Given the description of an element on the screen output the (x, y) to click on. 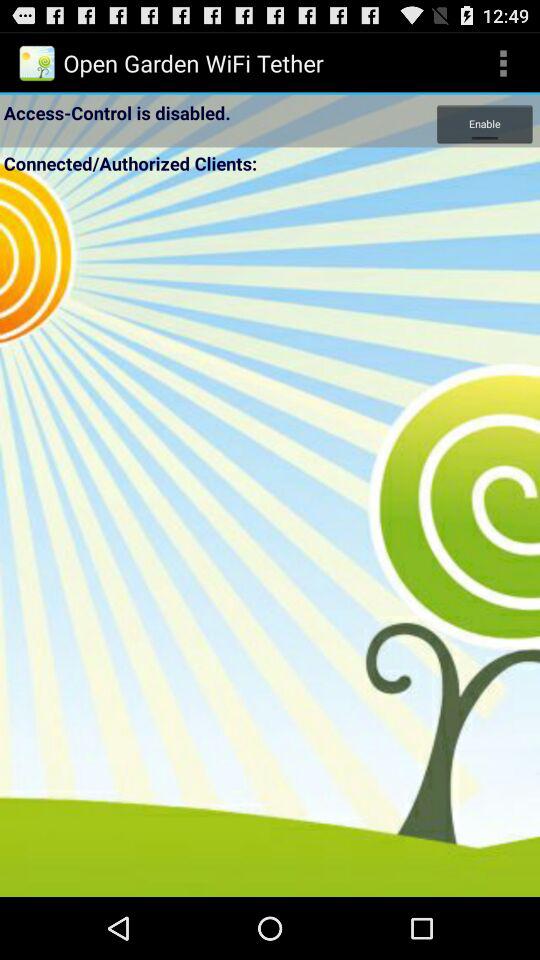
select image (270, 537)
